Given the description of an element on the screen output the (x, y) to click on. 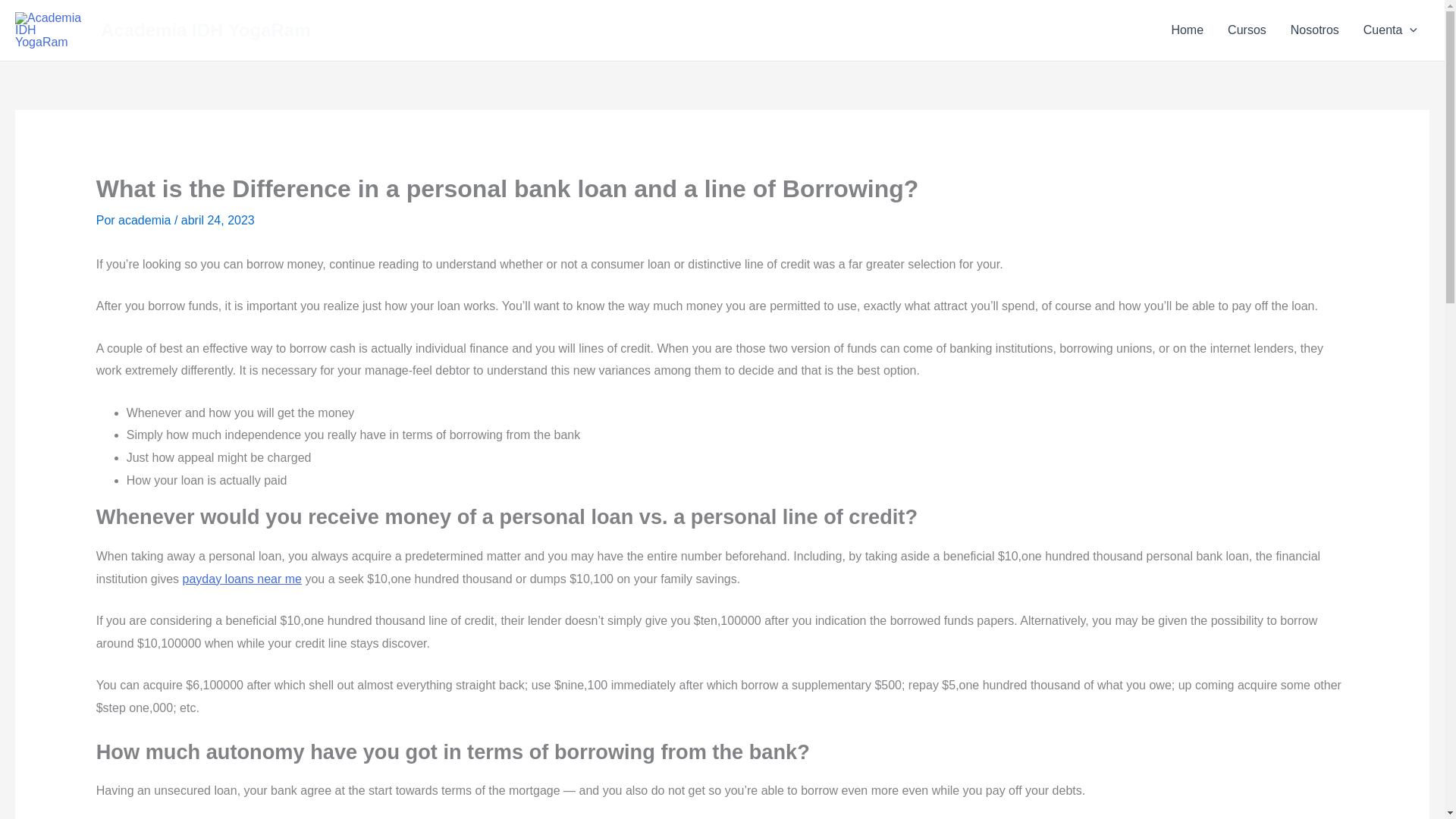
Ver todas las entradas de academia (145, 219)
Cursos (1246, 30)
Cuenta (1390, 30)
Academia IDH YogaRam (205, 29)
payday loans near me (242, 578)
Nosotros (1314, 30)
academia (145, 219)
Home (1186, 30)
